Given the description of an element on the screen output the (x, y) to click on. 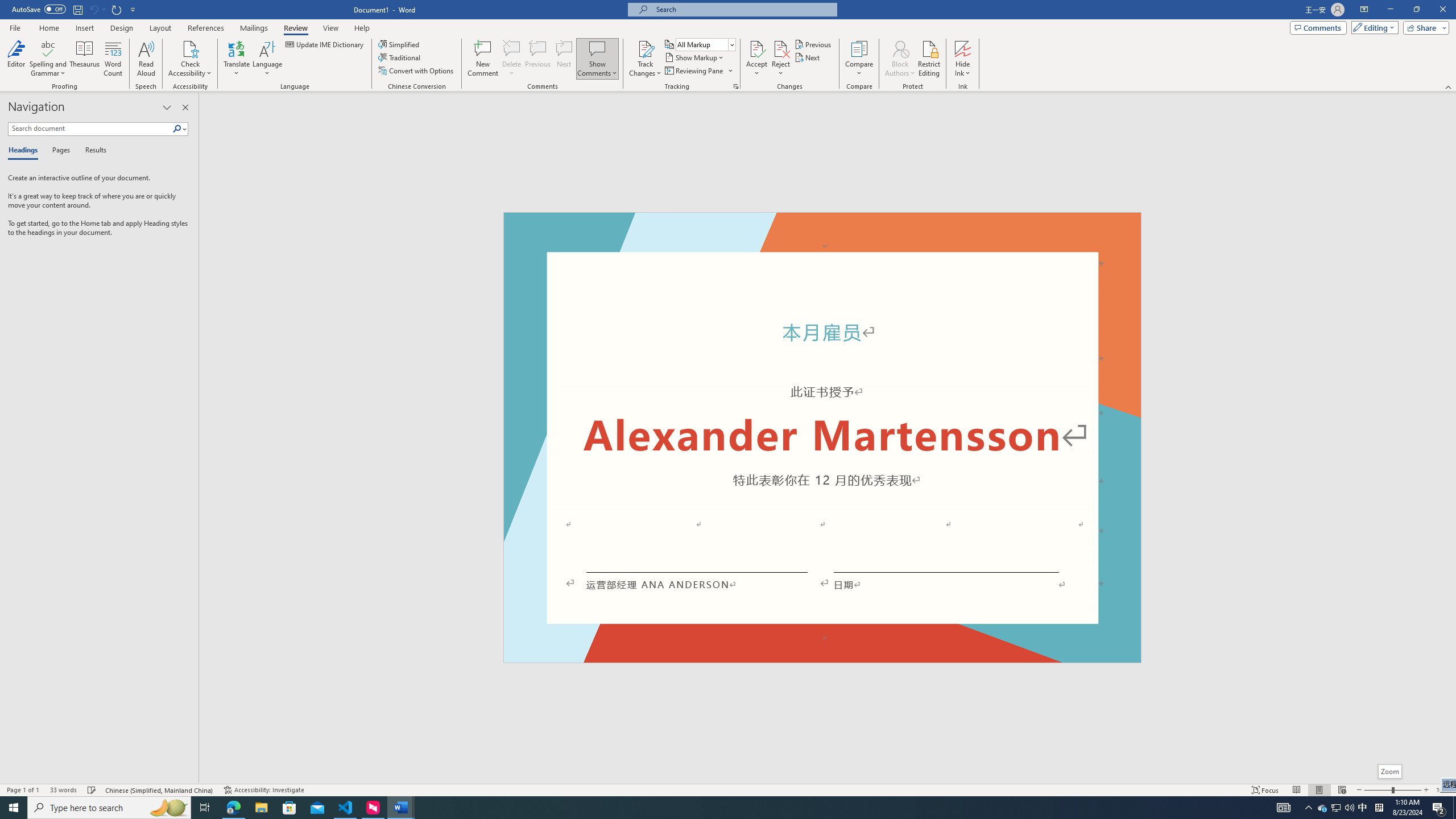
Reviewing Pane (694, 69)
Page Number Page 1 of 1 (22, 790)
Spelling and Grammar (48, 58)
Change Tracking Options... (735, 85)
Translate (236, 58)
Word Count (113, 58)
Spelling and Grammar (48, 48)
